Given the description of an element on the screen output the (x, y) to click on. 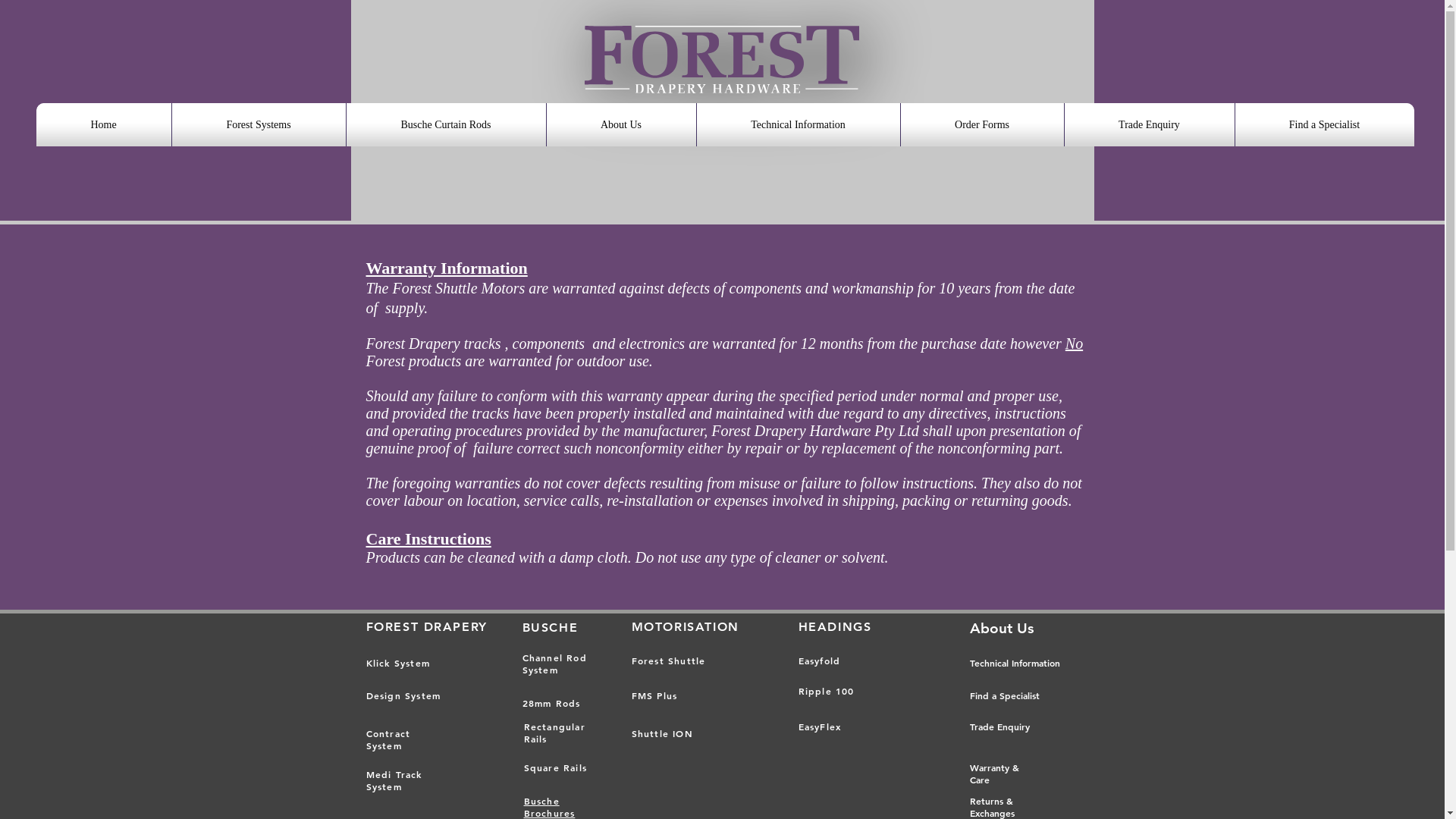
Technical Information Element type: text (1014, 663)
Technical Information Element type: text (798, 124)
Find a Specialist Element type: text (1003, 695)
Medi Track System Element type: text (393, 780)
About Us Element type: text (1000, 628)
Trade Enquiry Element type: text (999, 726)
Forest Systems Element type: text (258, 124)
Rectangular Rails Element type: text (553, 732)
Ripple 100 Element type: text (825, 691)
28mm Rods Element type: text (550, 702)
Design System Element type: text (402, 695)
MOTORISATION Element type: text (684, 626)
Home Element type: text (102, 124)
FOREST DRAPERY Element type: text (425, 626)
Channel Rod System Element type: text (553, 663)
Easyfold Element type: text (818, 660)
EasyFlex Element type: text (818, 726)
Order Forms Element type: text (981, 124)
Contract System Element type: text (387, 739)
Square Rails Element type: text (554, 767)
Warranty & Care Element type: text (993, 773)
HEADINGS Element type: text (834, 626)
Shuttle ION Element type: text (661, 733)
Trade Enquiry Element type: text (1148, 124)
BUSCHE  Element type: text (551, 627)
Forest Shuttle Element type: text (667, 660)
Klick System Element type: text (397, 662)
FMS Plus Element type: text (653, 695)
About Us Element type: text (621, 124)
Find a Specialist Element type: text (1324, 124)
Busche Curtain Rods Element type: text (446, 124)
